Given the description of an element on the screen output the (x, y) to click on. 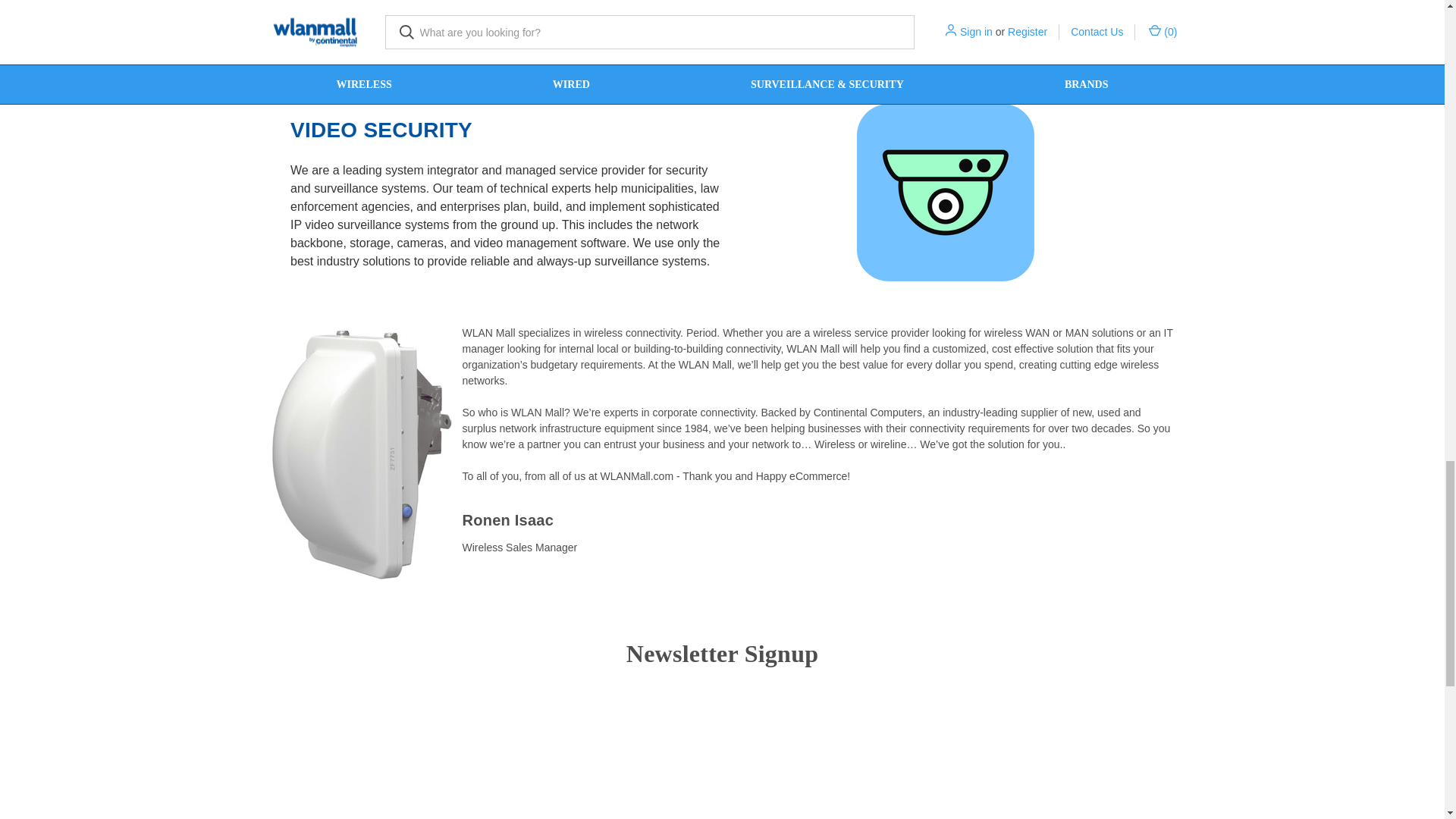
Form 0 (721, 749)
